Given the description of an element on the screen output the (x, y) to click on. 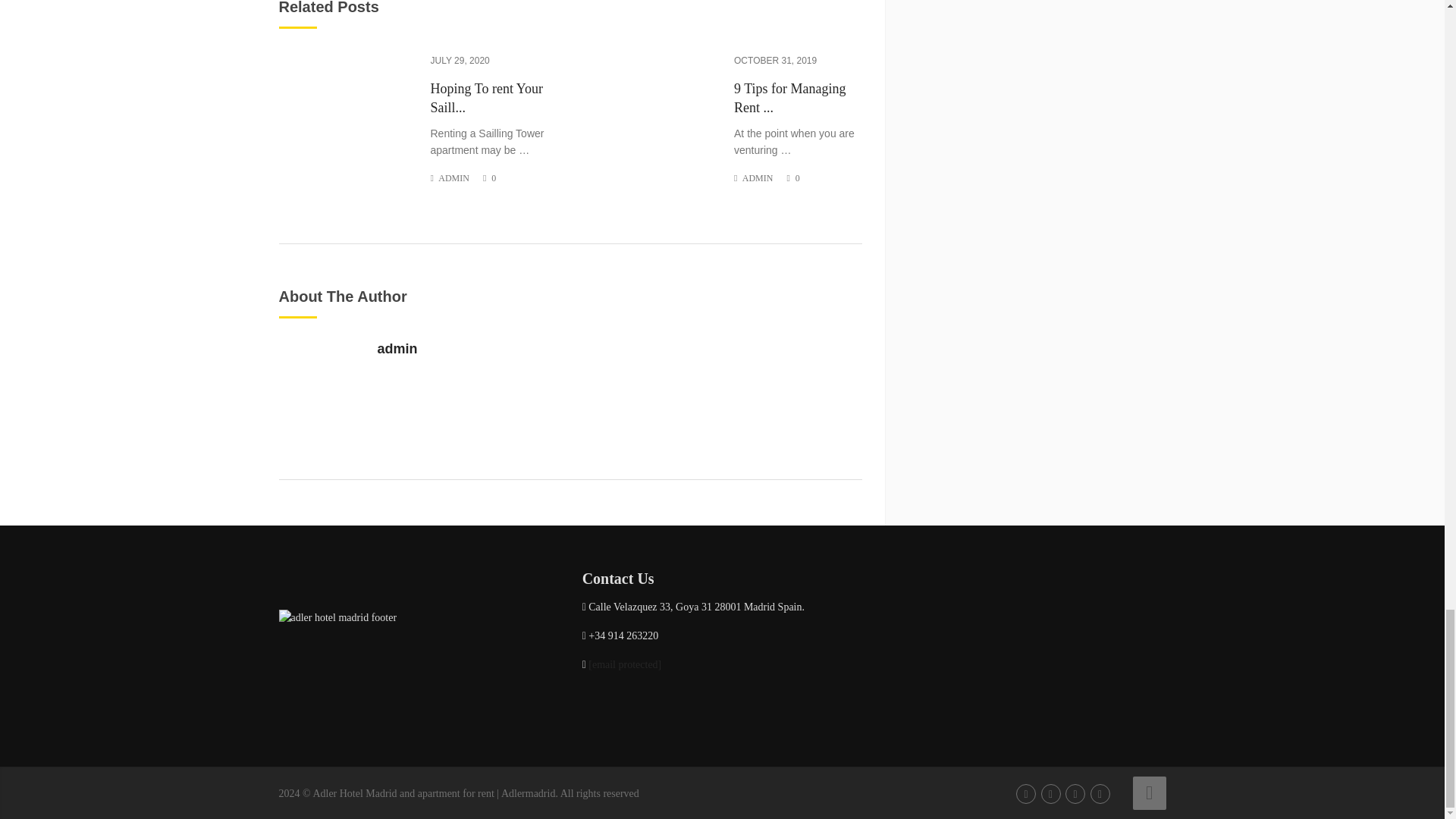
9 Tips for Managing Rent as a College Student (797, 98)
Hoping To rent Your Saill... (494, 98)
admin (397, 348)
9 Tips for Managing Rent ... (797, 98)
ADMIN (453, 177)
ADMIN (757, 177)
Posts by admin (453, 177)
0 (494, 177)
Posts by admin (757, 177)
0 (796, 177)
